Given the description of an element on the screen output the (x, y) to click on. 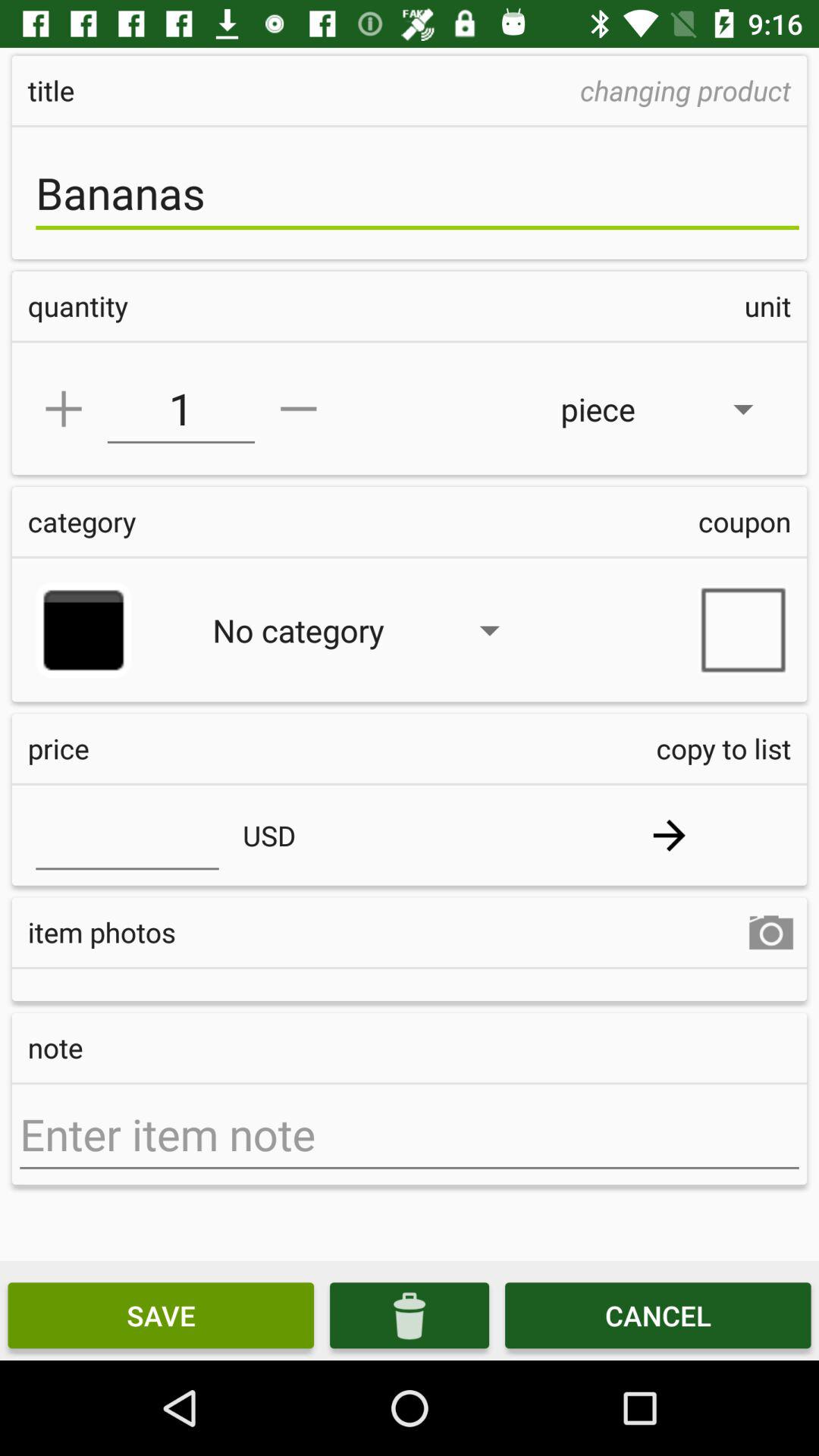
plus (63, 408)
